Given the description of an element on the screen output the (x, y) to click on. 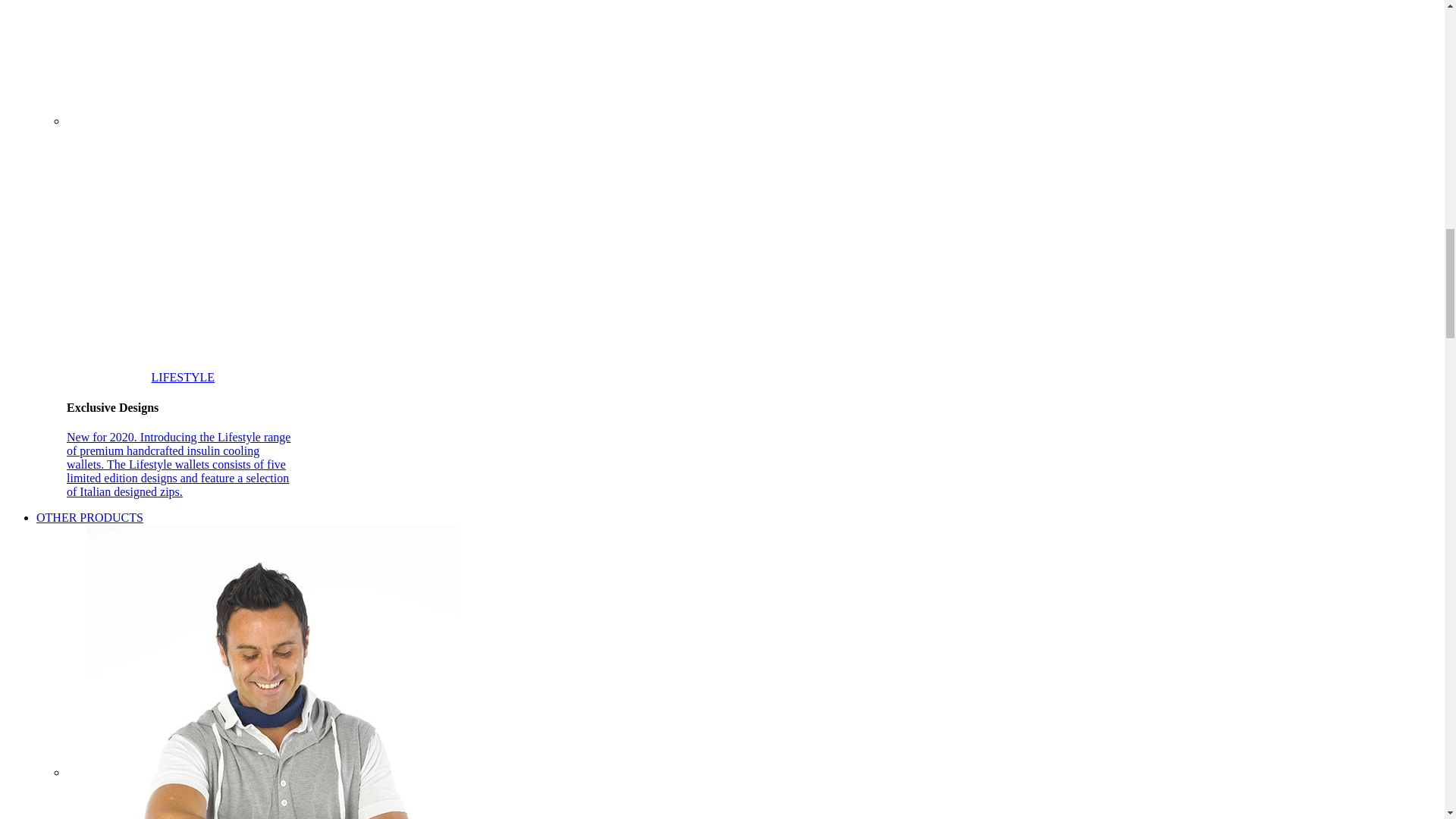
OTHER PRODUCTS (89, 517)
LIFESTYLE (273, 249)
